Given the description of an element on the screen output the (x, y) to click on. 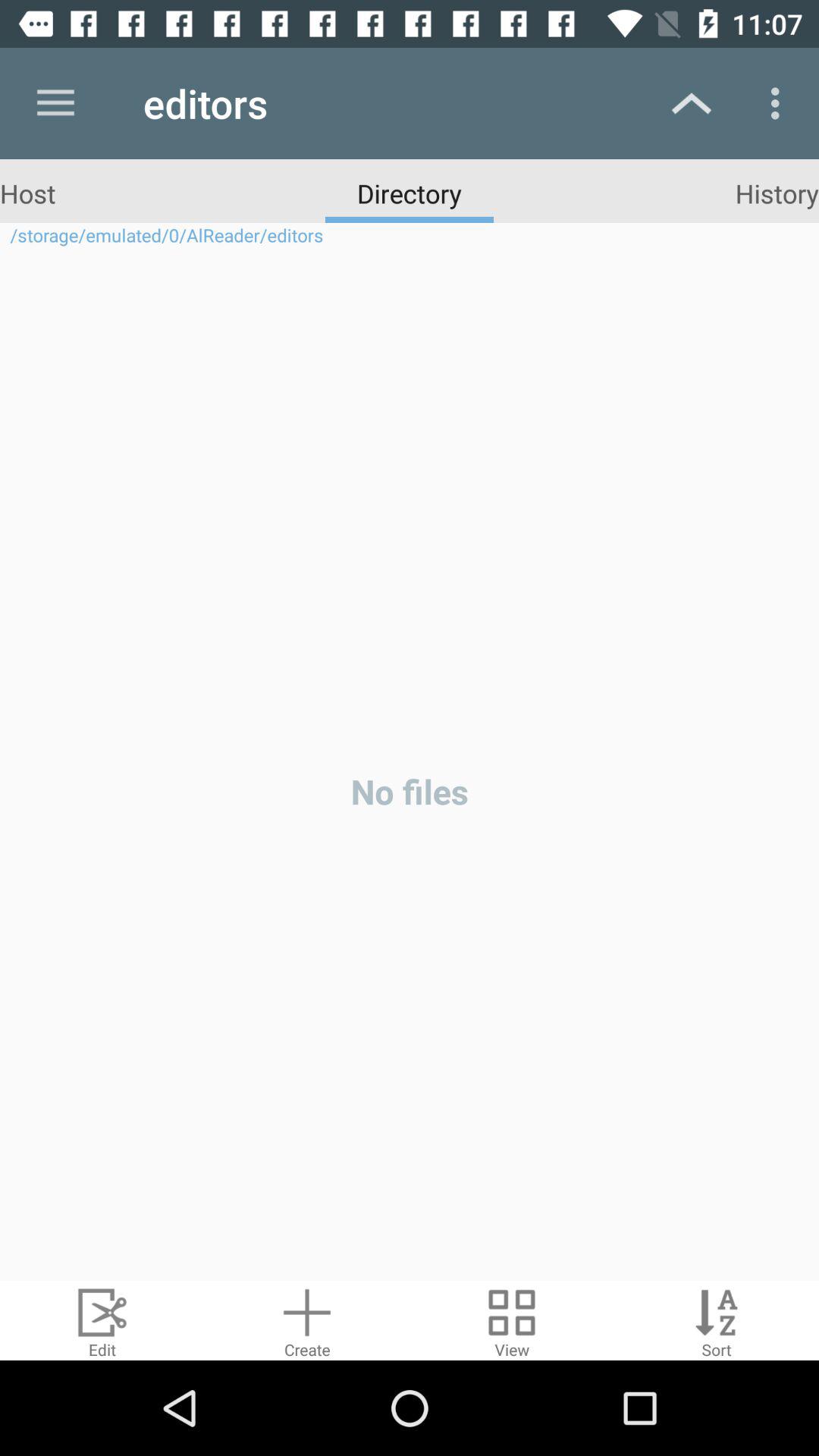
sort by alphetical order (716, 1320)
